Given the description of an element on the screen output the (x, y) to click on. 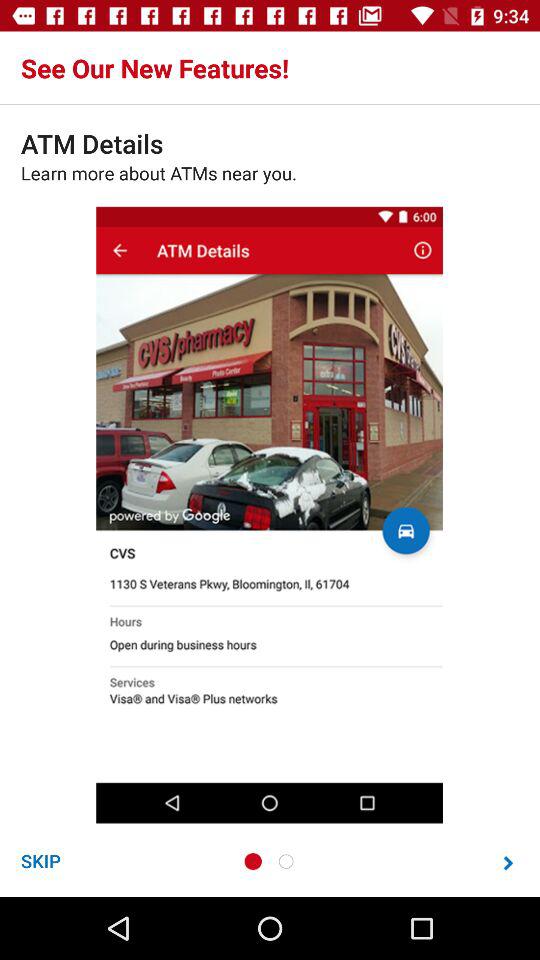
flip to the skip (40, 860)
